Given the description of an element on the screen output the (x, y) to click on. 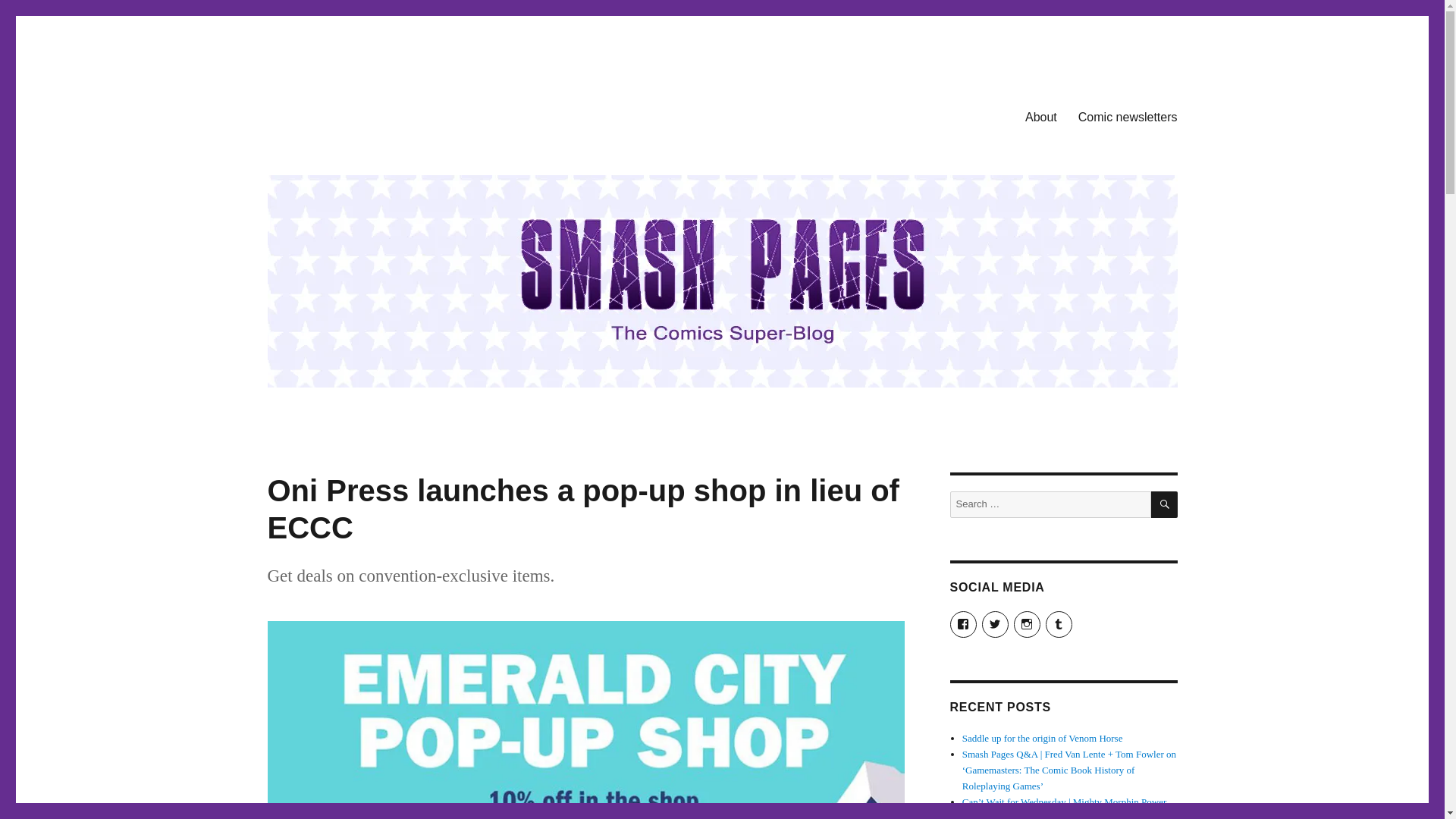
About (1040, 116)
SEARCH (1164, 504)
Saddle up for the origin of Venom Horse (1042, 737)
SMASH PAGES (344, 114)
Comic newsletters (1127, 116)
